Given the description of an element on the screen output the (x, y) to click on. 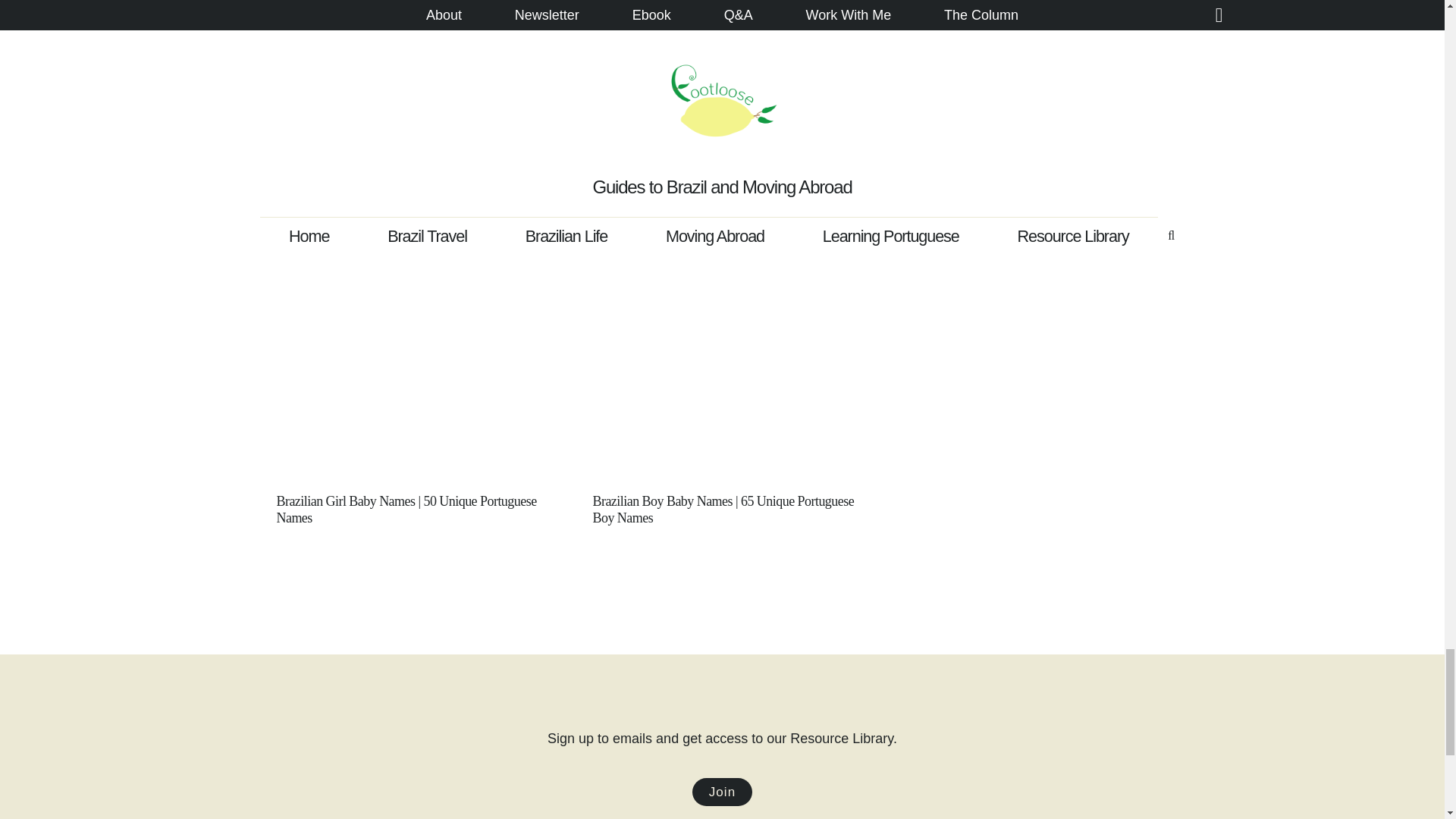
Resource Library (722, 791)
